Given the description of an element on the screen output the (x, y) to click on. 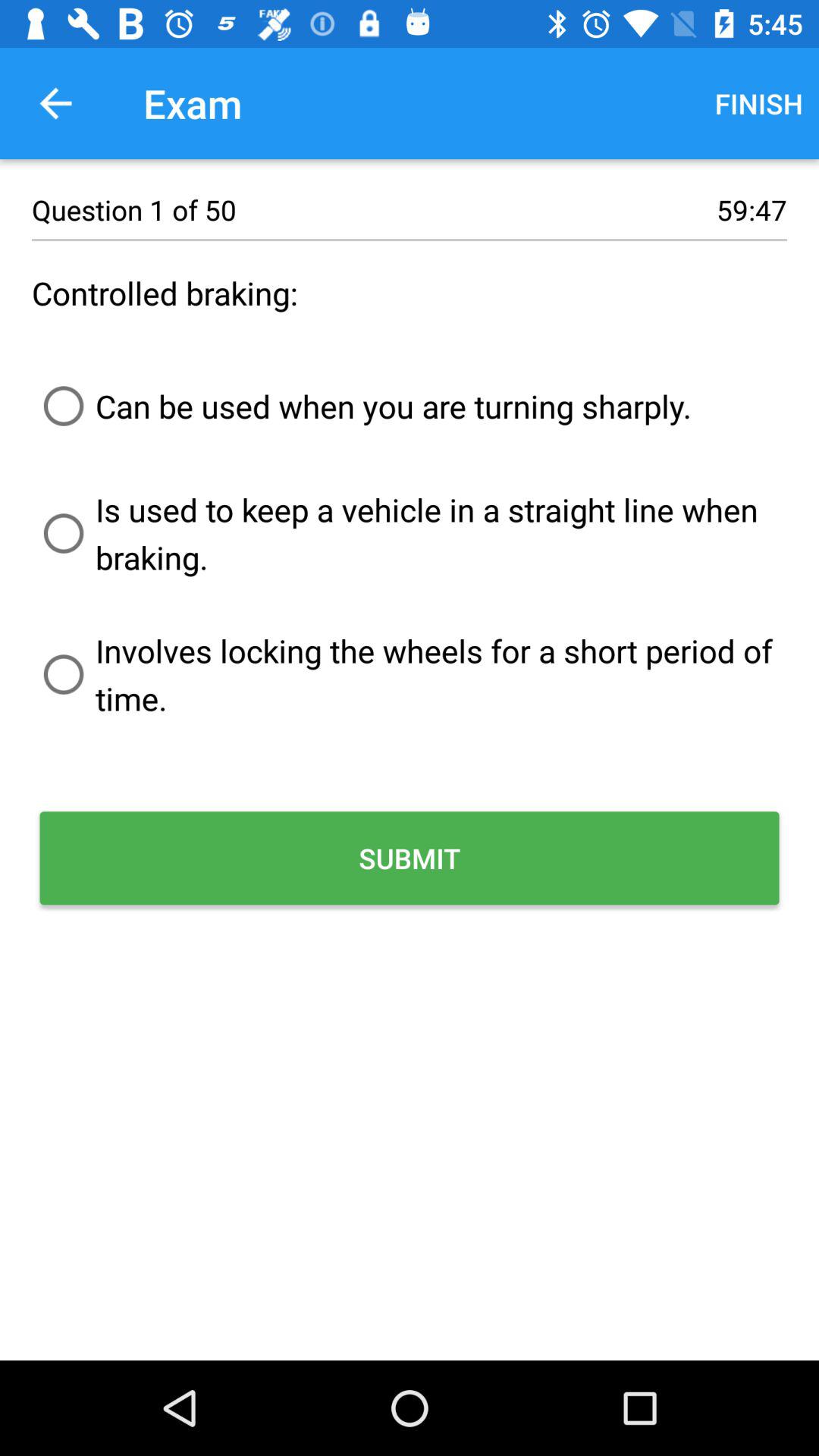
turn on item next to the exam icon (758, 103)
